Given the description of an element on the screen output the (x, y) to click on. 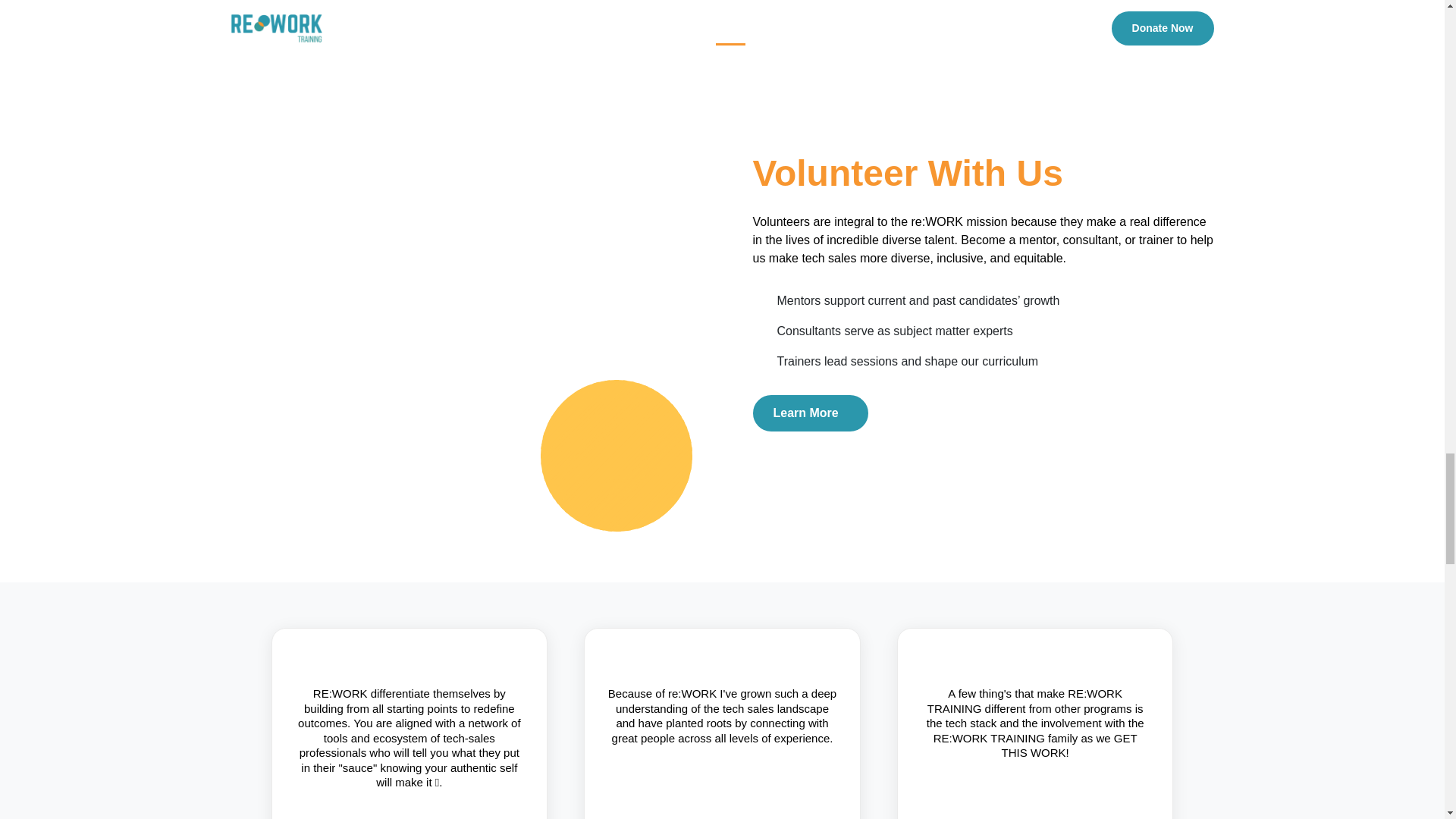
Learn More (809, 412)
